Given the description of an element on the screen output the (x, y) to click on. 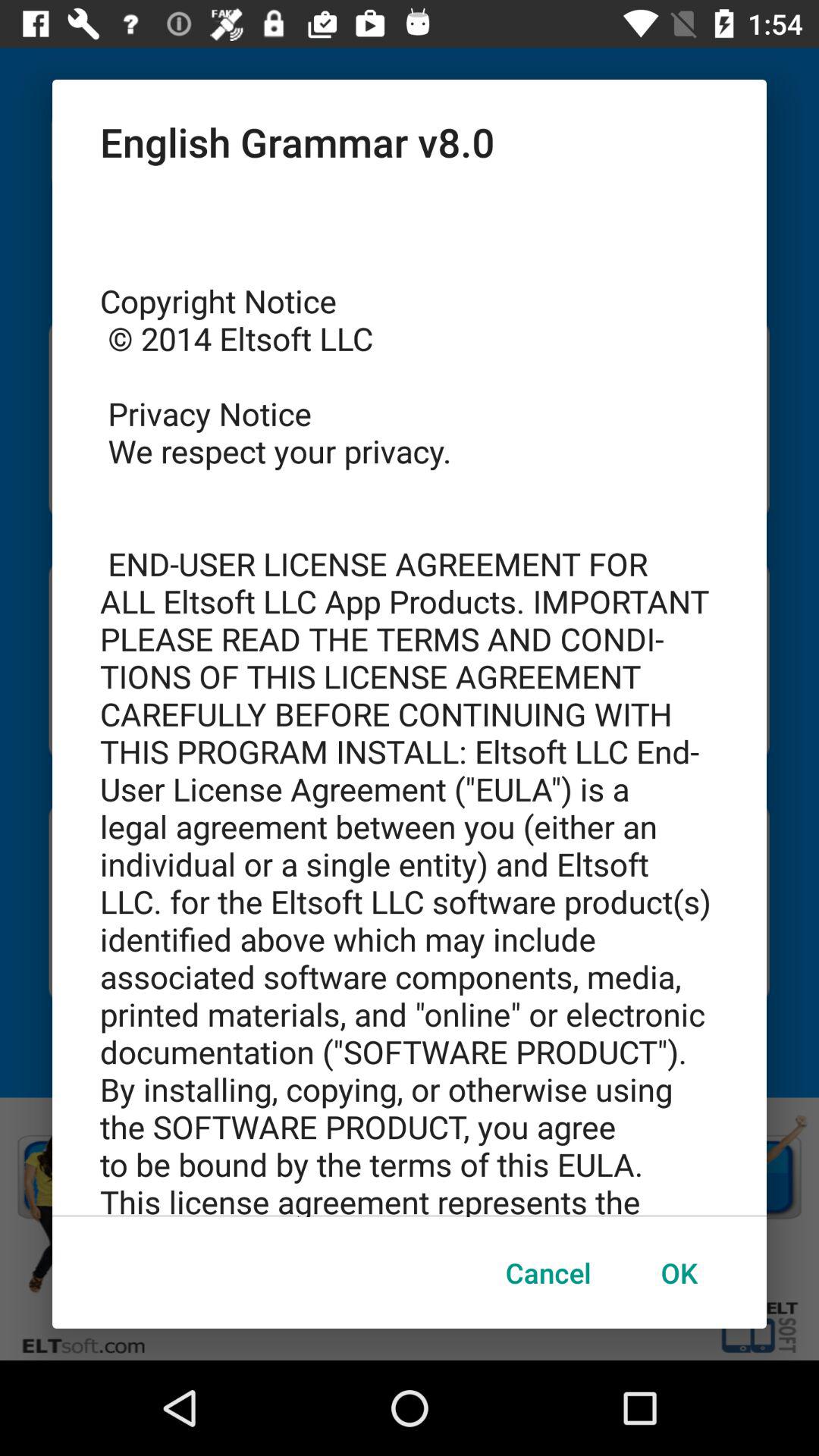
turn on app below the copyright notice 2014 icon (548, 1272)
